Given the description of an element on the screen output the (x, y) to click on. 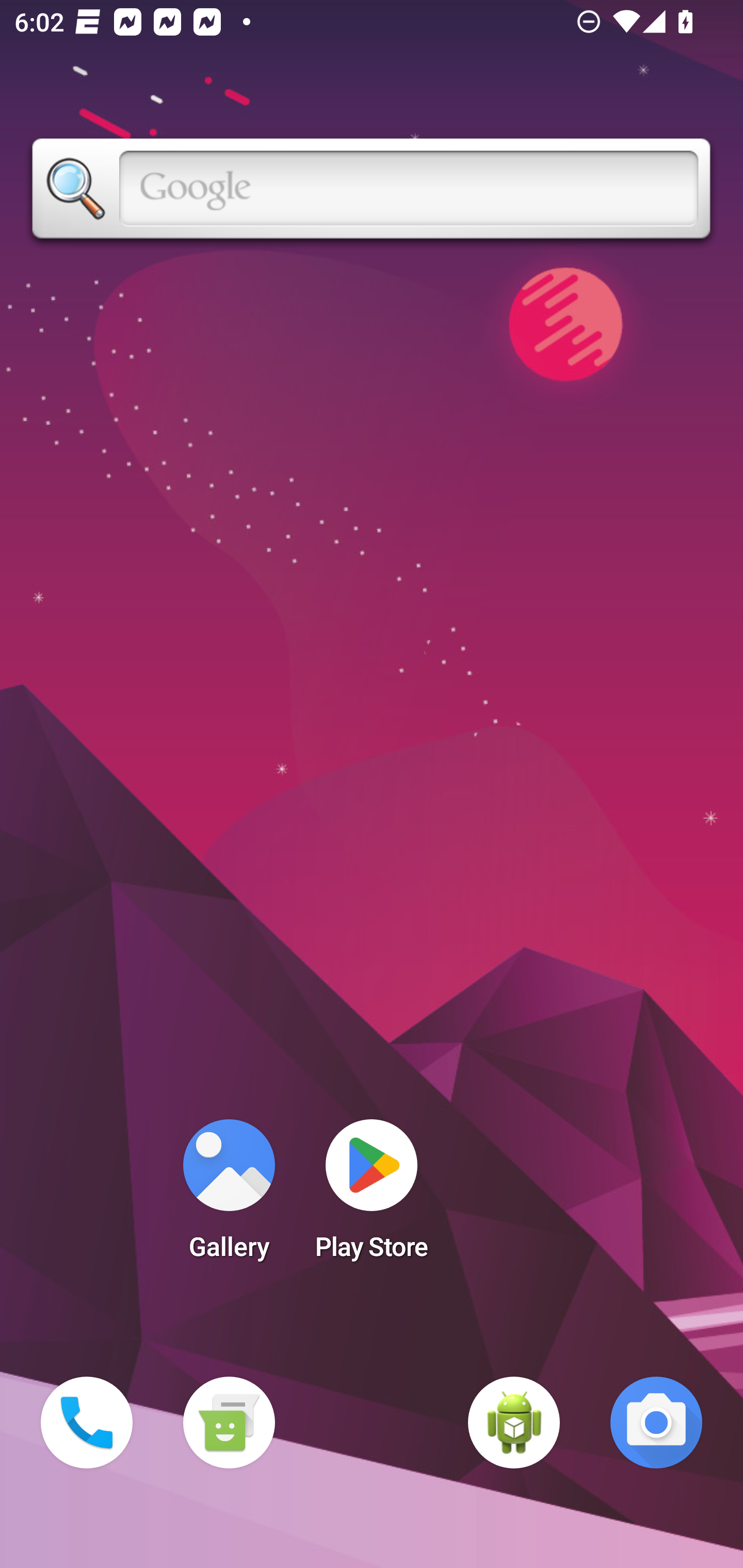
Gallery (228, 1195)
Play Store (371, 1195)
Phone (86, 1422)
Messaging (228, 1422)
WebView Browser Tester (513, 1422)
Camera (656, 1422)
